Given the description of an element on the screen output the (x, y) to click on. 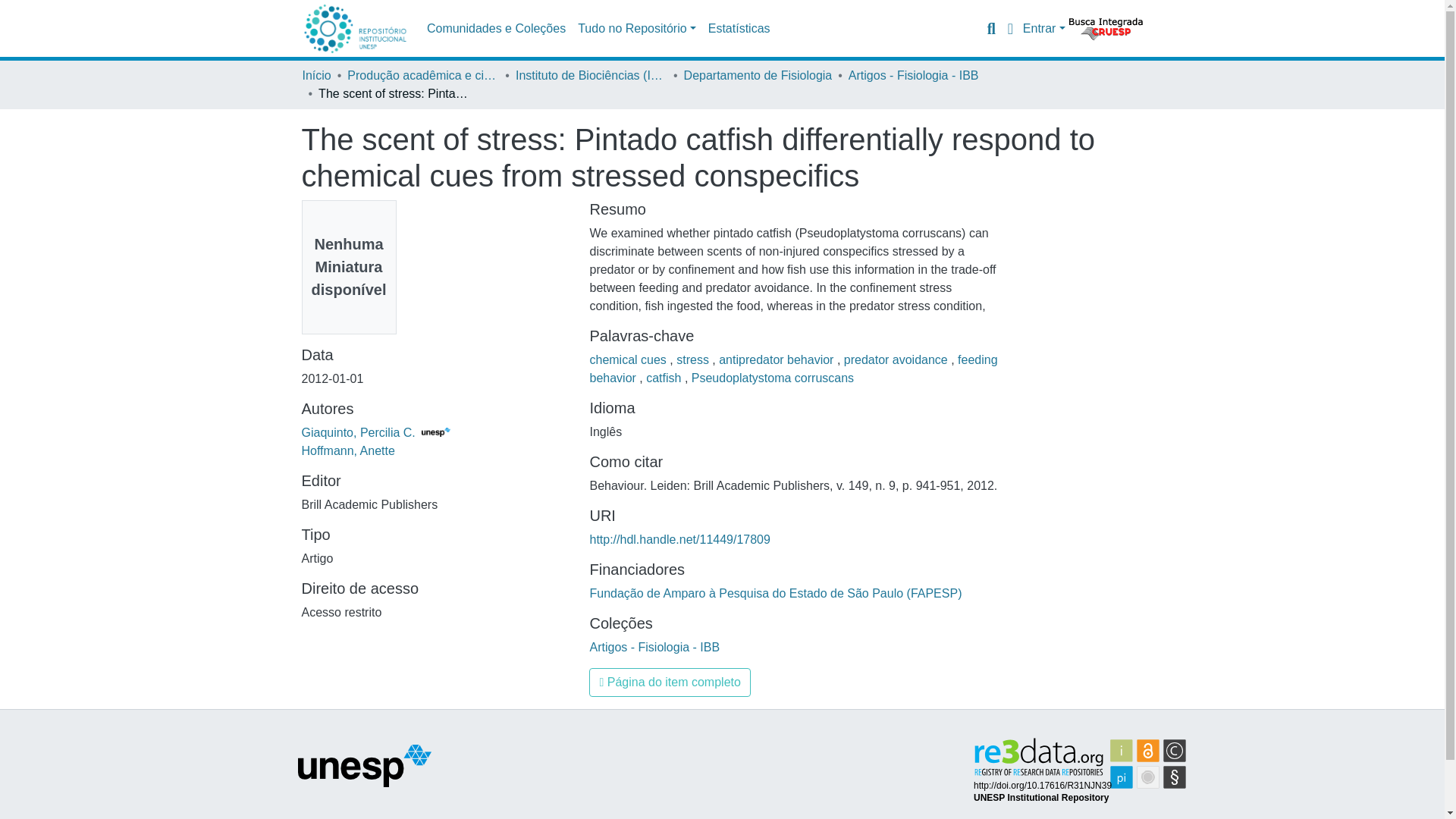
catfish (665, 377)
stress (694, 359)
Artigos - Fisiologia - IBB (654, 646)
Entrar (1044, 28)
Artigos - Fisiologia - IBB (913, 75)
Pesquisar (991, 28)
Pseudoplatystoma corruscans (772, 377)
predator avoidance (897, 359)
chemical cues (629, 359)
Hoffmann, Anette (347, 450)
Giaquinto, Percilia C. (375, 431)
feeding behavior (793, 368)
Departamento de Fisiologia (758, 75)
antipredator behavior (778, 359)
Alternar idioma (1010, 28)
